Given the description of an element on the screen output the (x, y) to click on. 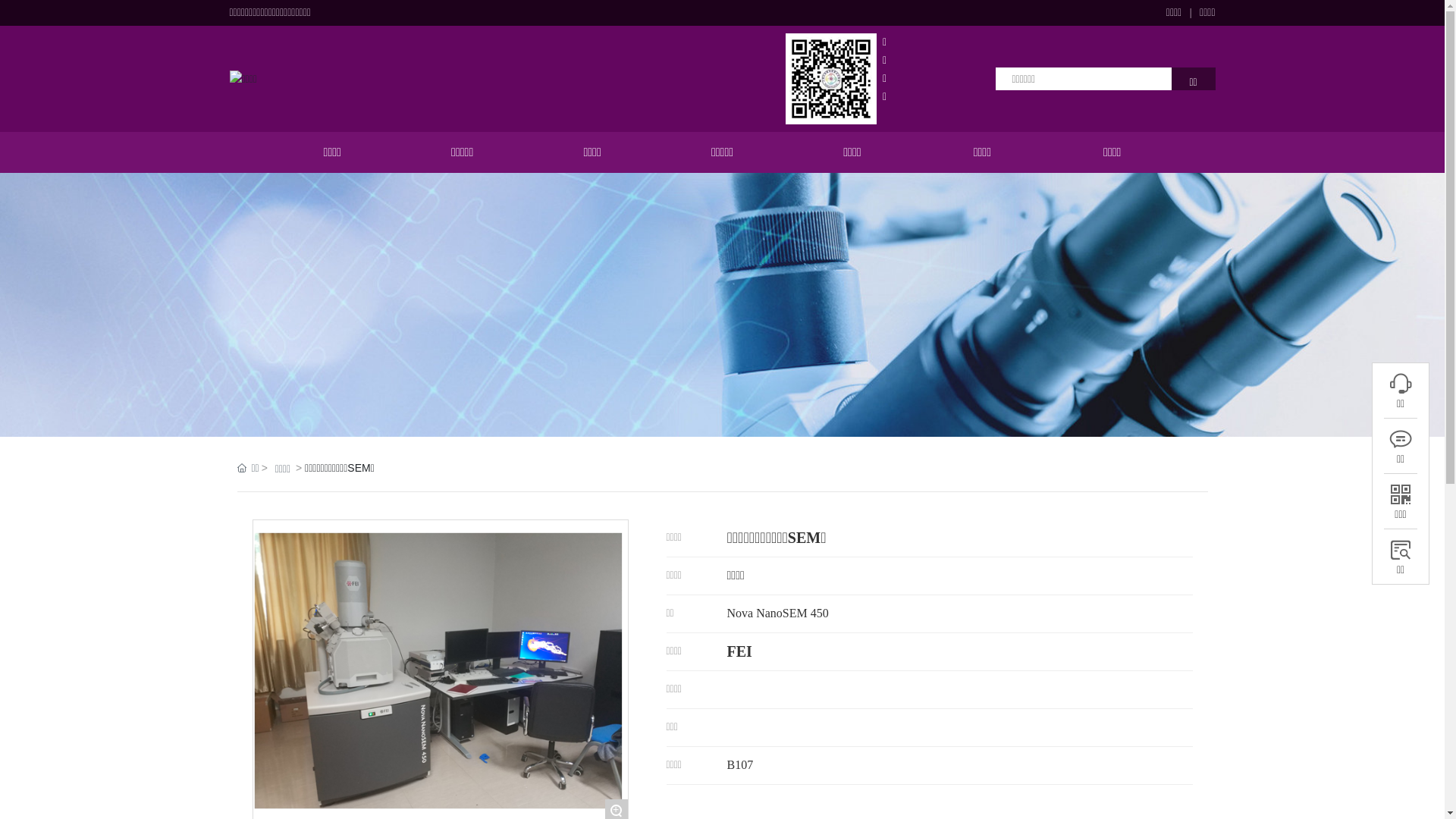
112 Element type: hover (1400, 494)
112 Element type: hover (1399, 549)
112 Element type: hover (1400, 383)
112 Element type: hover (1400, 438)
